Given the description of an element on the screen output the (x, y) to click on. 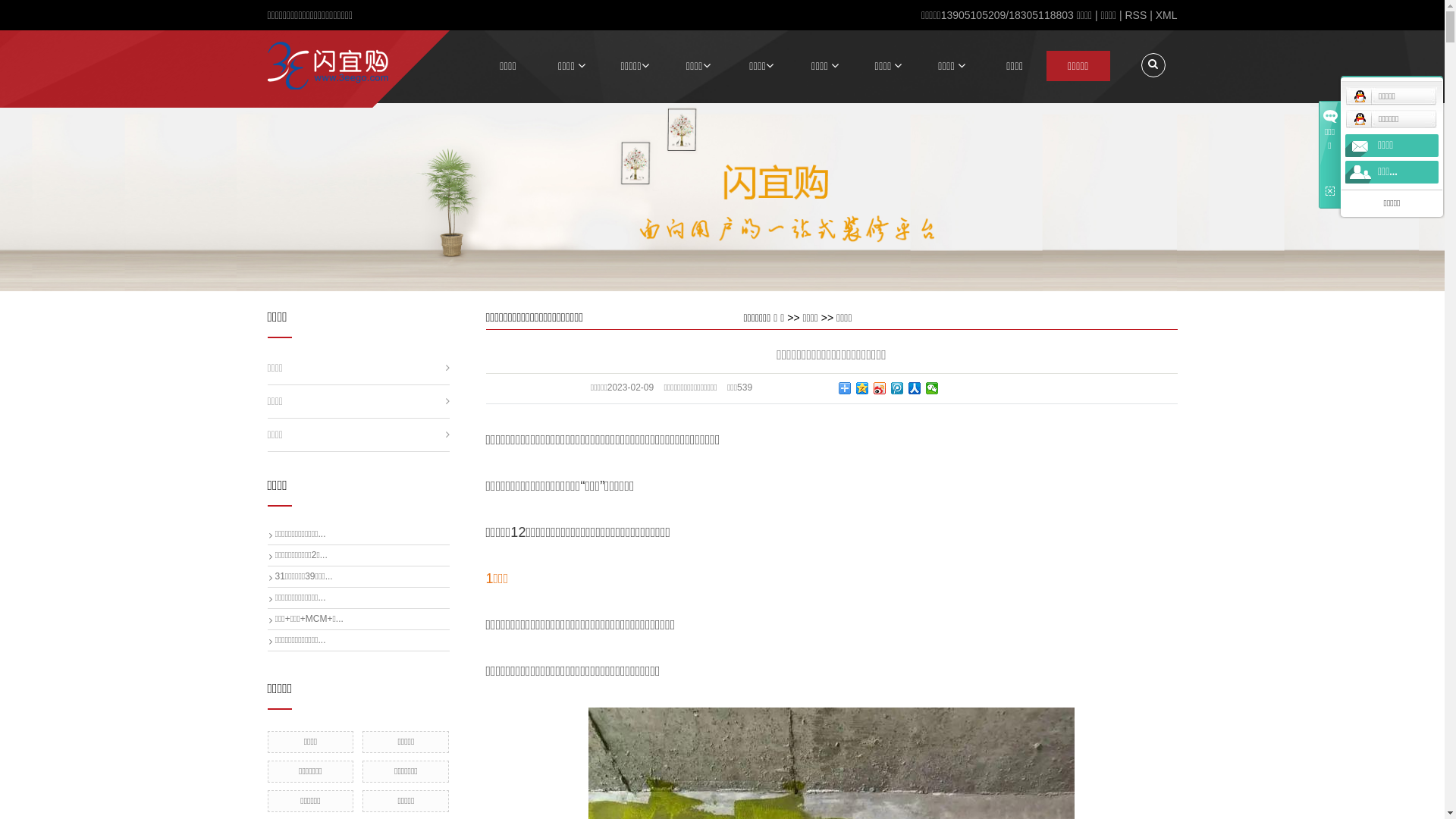
XML Element type: text (1166, 15)
RSS Element type: text (1135, 15)
